Given the description of an element on the screen output the (x, y) to click on. 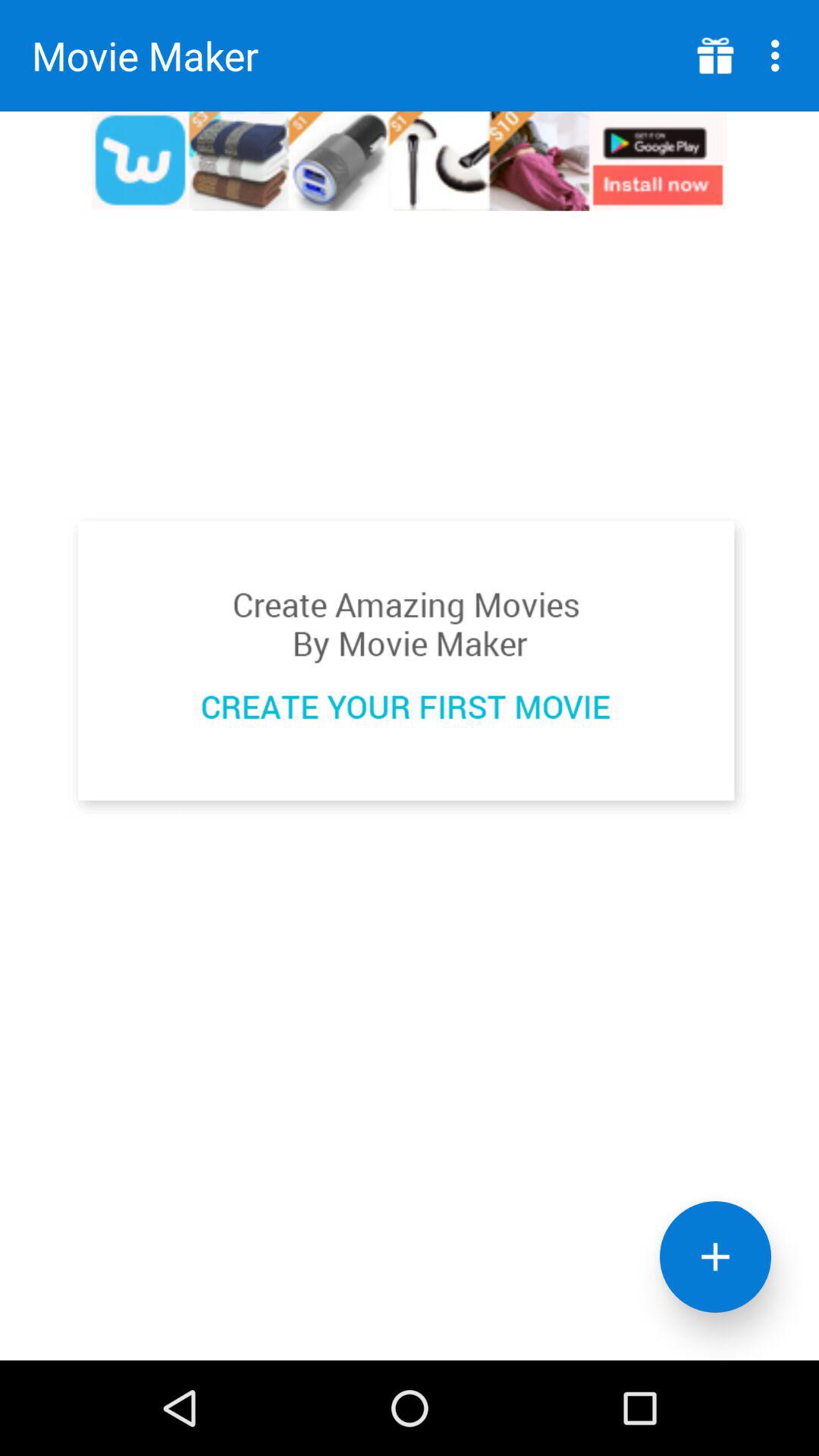
filter (715, 1256)
